Given the description of an element on the screen output the (x, y) to click on. 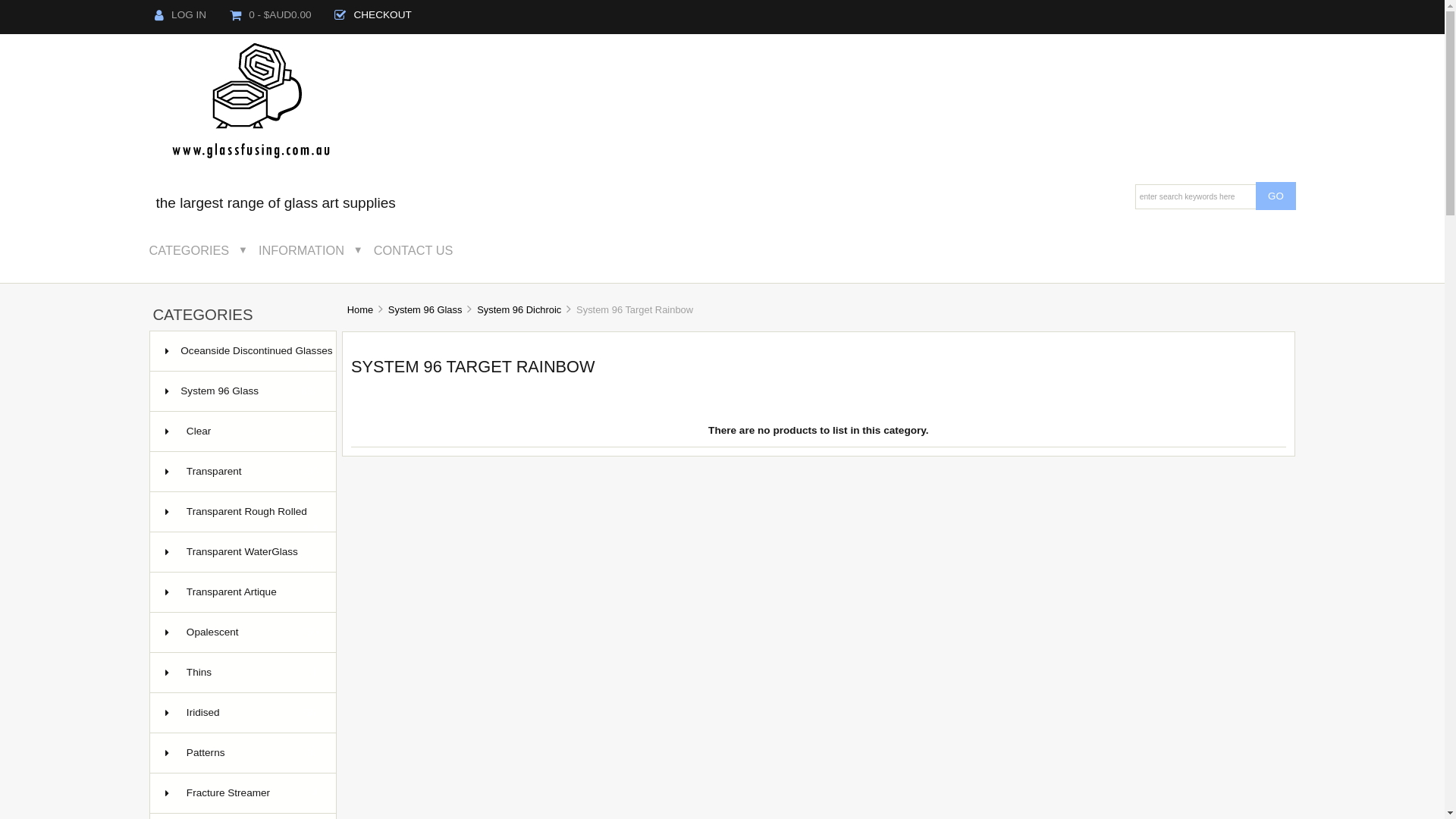
  Opalescent
50 Element type: text (242, 632)
  Transparent Artique
8 Element type: text (242, 592)
  Transparent
36 Element type: text (242, 471)
go Element type: text (1275, 195)
CATEGORIES Element type: text (199, 249)
Login Element type: hover (158, 15)
CONTACT US Element type: text (424, 249)
CHECKOUT Element type: text (372, 14)
Checkout Element type: hover (339, 15)
  Transparent Rough Rolled
14 Element type: text (242, 512)
  Thins
1 Element type: text (242, 672)
  Transparent WaterGlass
22 Element type: text (242, 552)
LOG IN Element type: text (180, 14)
  Clear
12 Element type: text (242, 431)
  Iridised
37 Element type: text (242, 713)
Oceanside Discontinued Glasses
42 Element type: text (242, 351)
Shopping Cart Element type: hover (235, 15)
  Fracture Streamer
4 Element type: text (242, 793)
System 96 Glass
832 Element type: text (242, 391)
System 96 Glass Element type: text (425, 309)
System 96 Dichroic Element type: text (518, 309)
INFORMATION Element type: text (312, 249)
 Glassfusing.com.au  Element type: hover (253, 104)
Home Element type: text (360, 309)
0 - $AUD0.00 Element type: text (270, 14)
  Patterns
138 Element type: text (242, 753)
